Given the description of an element on the screen output the (x, y) to click on. 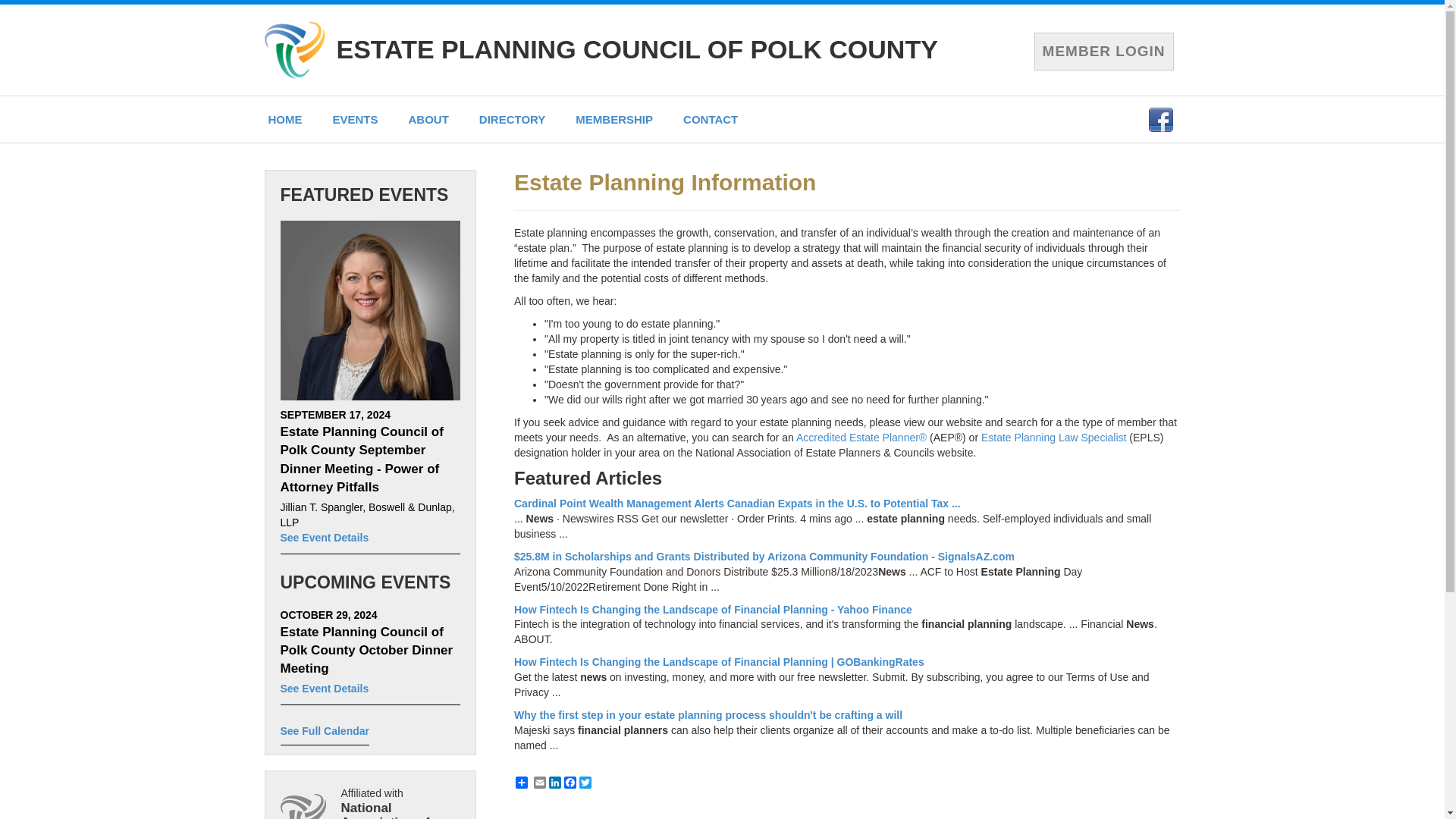
EVENTS (355, 119)
MEMBER LOGIN (1103, 50)
ESTATE PLANNING COUNCIL OF POLK COUNTY (636, 49)
HOME (285, 119)
ABOUT (428, 119)
